Given the description of an element on the screen output the (x, y) to click on. 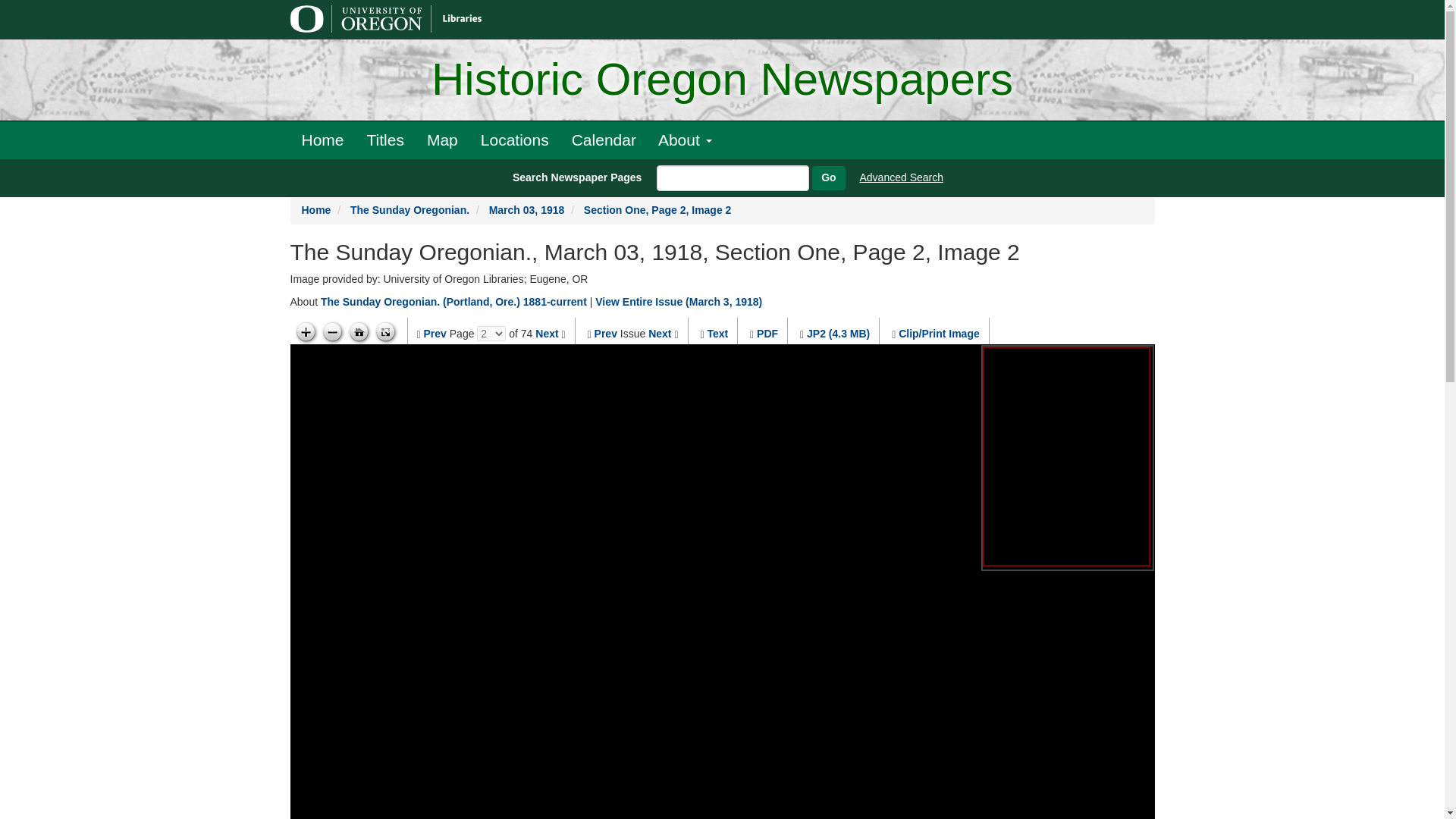
Advanced Search (901, 177)
Historic Oregon Newspapers (721, 79)
The Sunday Oregonian. (409, 209)
Titles (384, 139)
Section One, Page 2, Image 2 (657, 209)
Next (659, 333)
Toggle full page (385, 332)
Text (717, 333)
Next (546, 333)
Zoom out (332, 332)
About (684, 140)
Prev (605, 333)
Map (441, 139)
Locations (514, 139)
Home (322, 139)
